Given the description of an element on the screen output the (x, y) to click on. 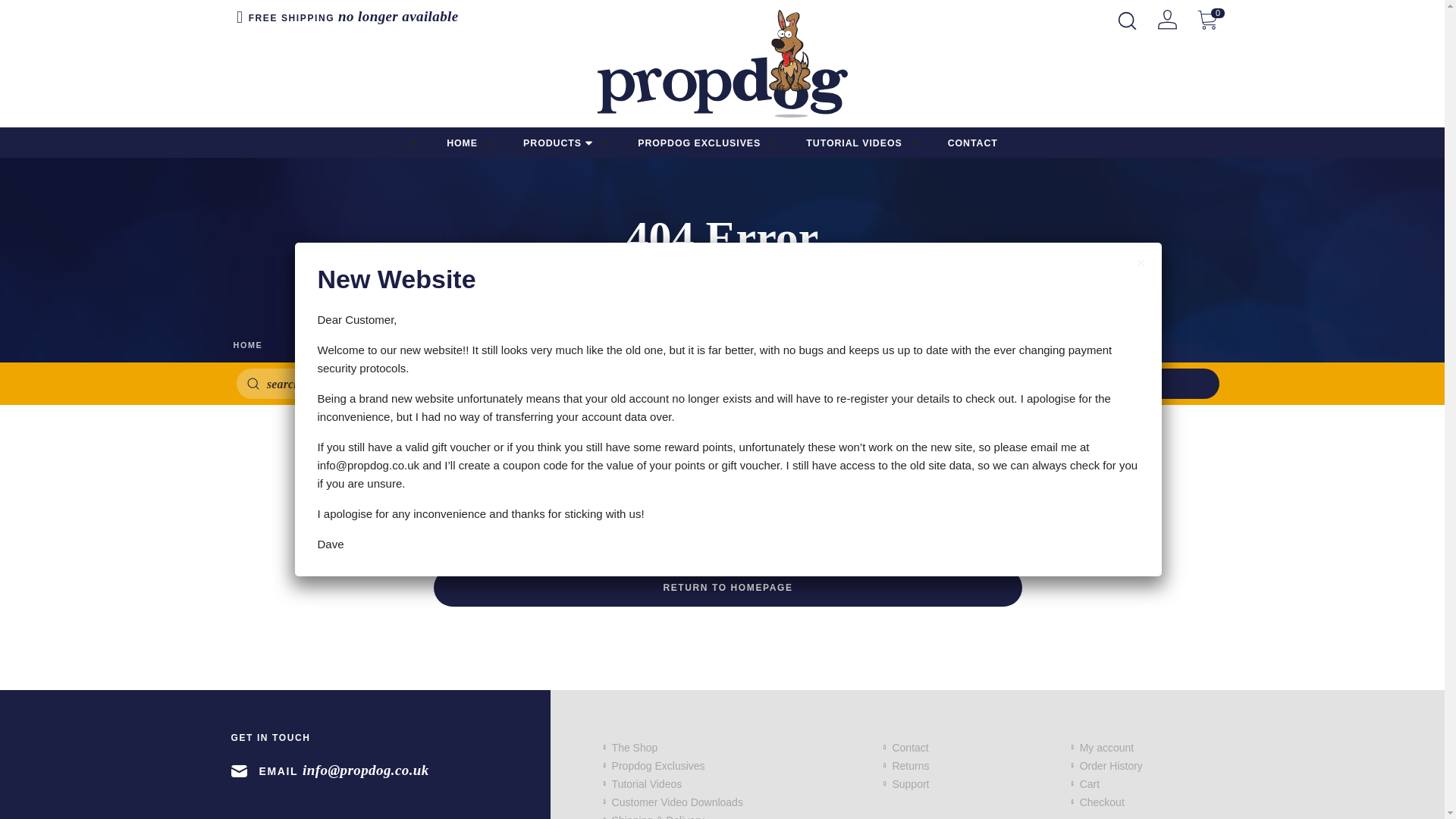
0 (1207, 18)
HOME (461, 143)
PropDog Magic Shop (721, 63)
PRODUCTS (557, 143)
View your shopping cart (1207, 18)
